Given the description of an element on the screen output the (x, y) to click on. 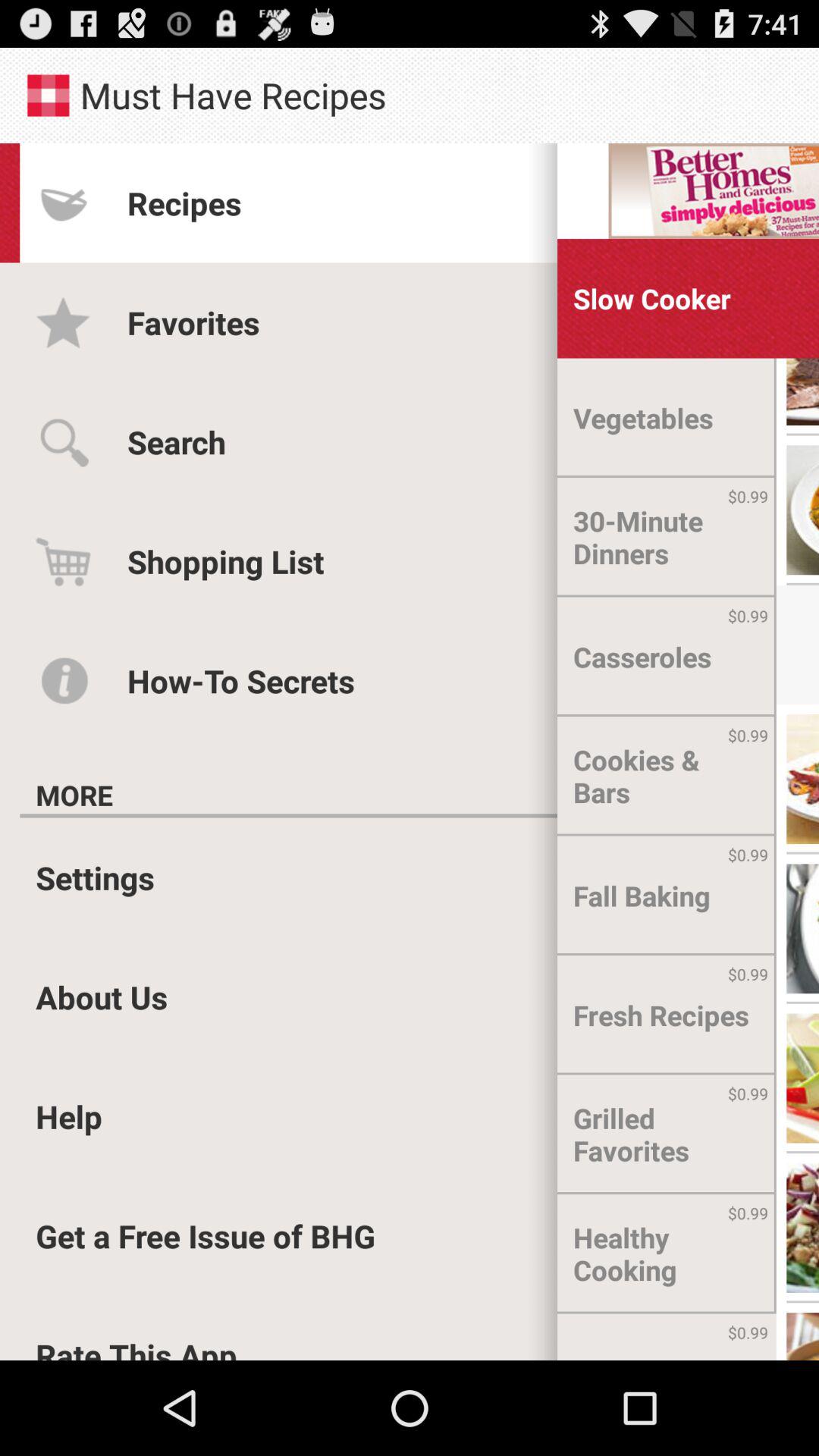
scroll until the 30-minute dinners item (666, 537)
